Given the description of an element on the screen output the (x, y) to click on. 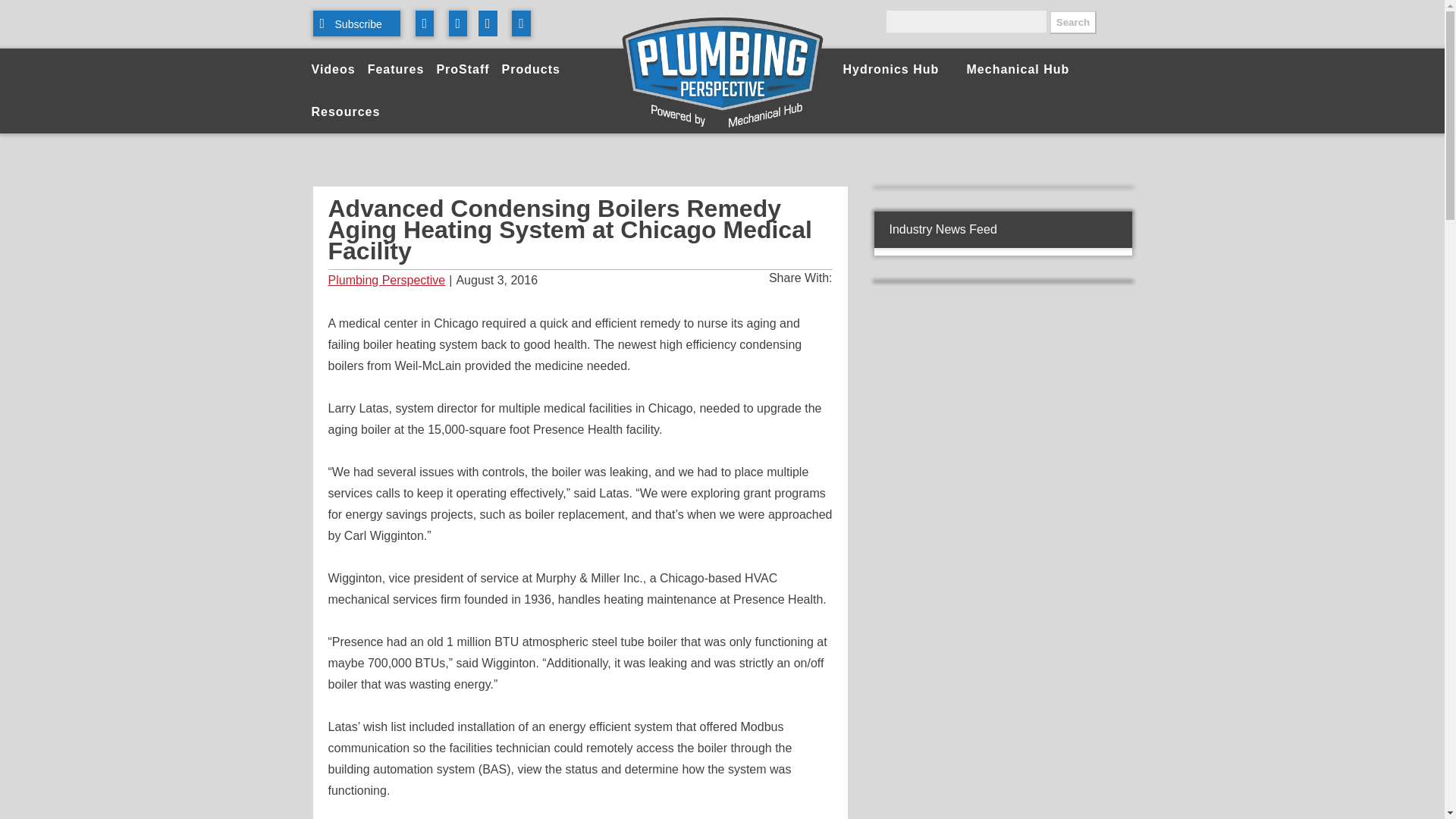
Hydronics Hub (894, 69)
Products (531, 69)
Search (1072, 22)
Mechanical Hub (1015, 69)
Videos (332, 69)
ProStaff (462, 69)
Resources (344, 111)
Search (1072, 22)
Plumbing Perspective (386, 280)
2016-08-03 (579, 280)
